Given the description of an element on the screen output the (x, y) to click on. 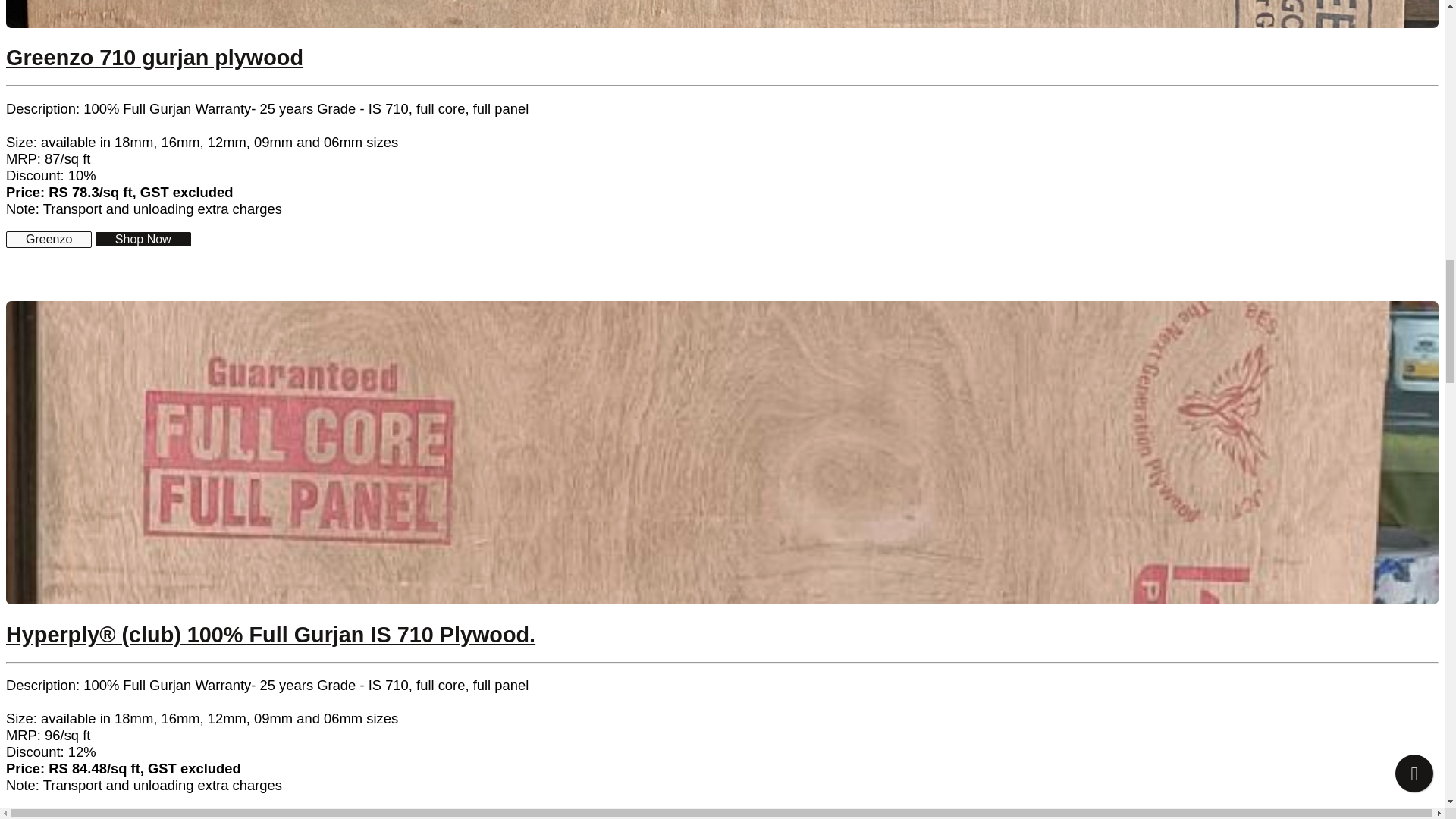
Greenzo 710 gurjan plywood (153, 57)
Greenzo (48, 239)
Shop Now (152, 814)
Greenzo (48, 238)
Shop Now (143, 238)
